Given the description of an element on the screen output the (x, y) to click on. 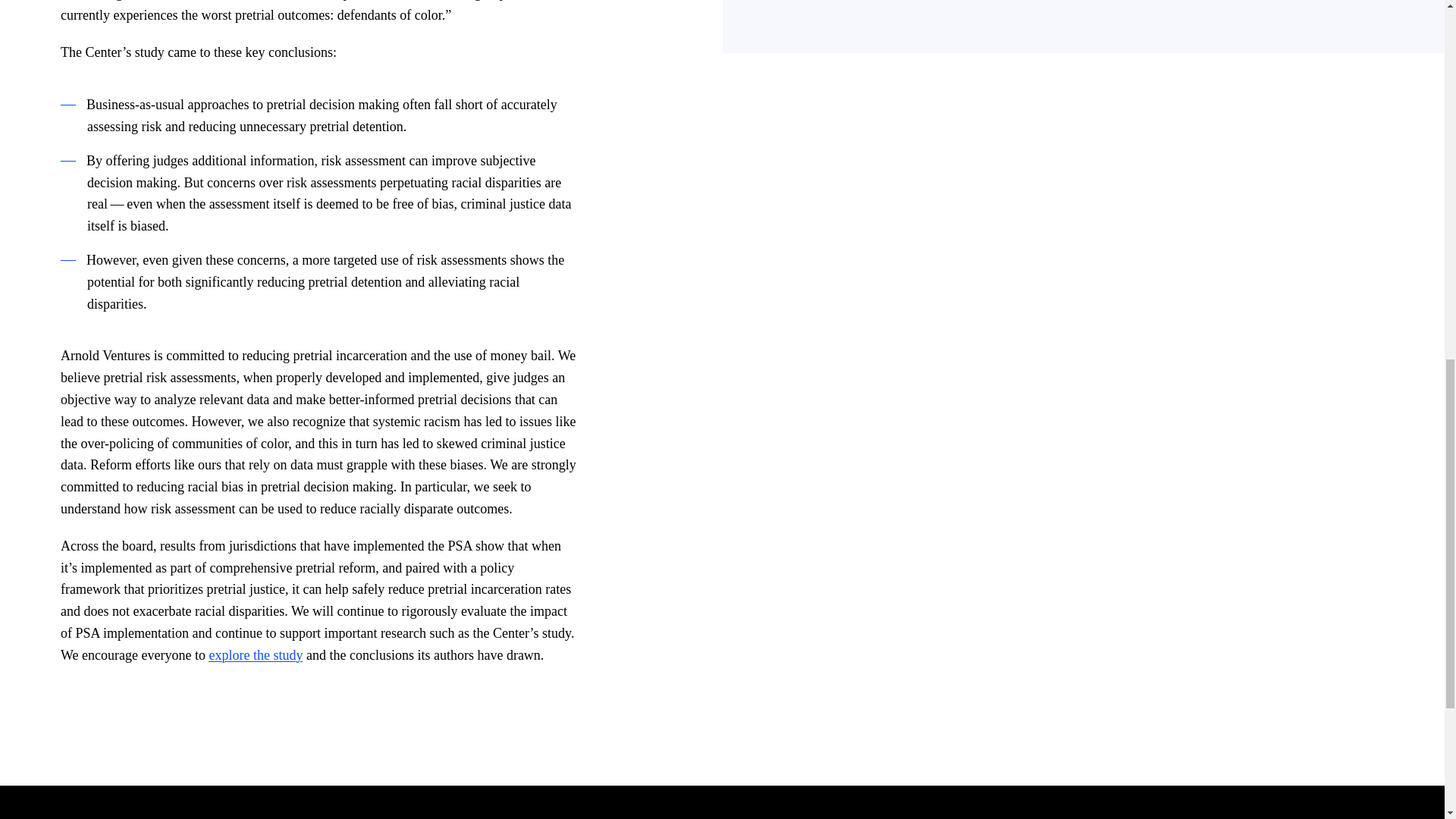
explore the study (255, 654)
